Given the description of an element on the screen output the (x, y) to click on. 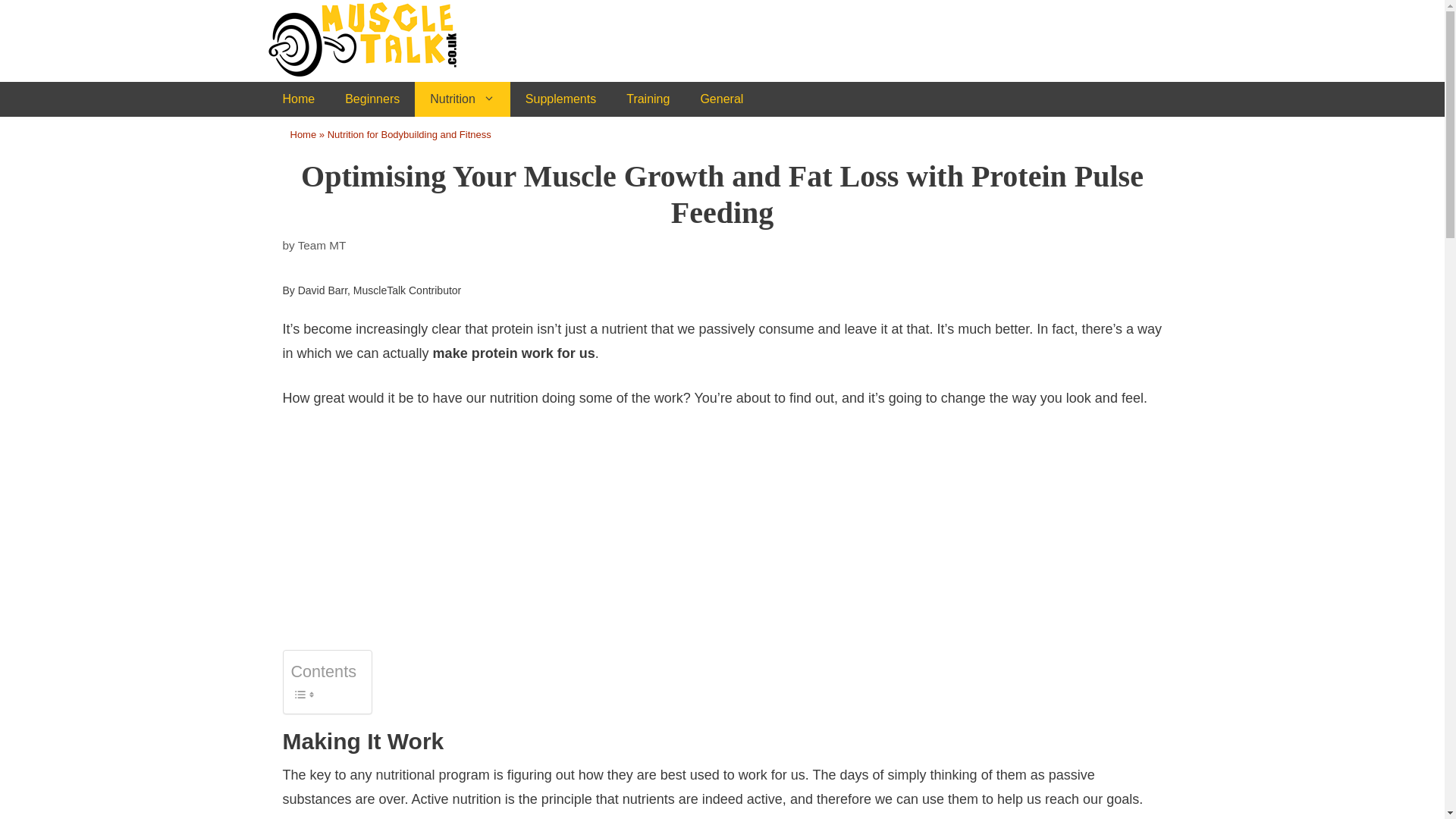
Nutrition (462, 99)
Nutrition for Bodybuilding and Fitness (409, 134)
Beginners (372, 99)
General (721, 99)
Training (647, 99)
MuscleTalk (380, 38)
View all posts by Team MT (322, 245)
Team MT (322, 245)
Home (302, 134)
